Given the description of an element on the screen output the (x, y) to click on. 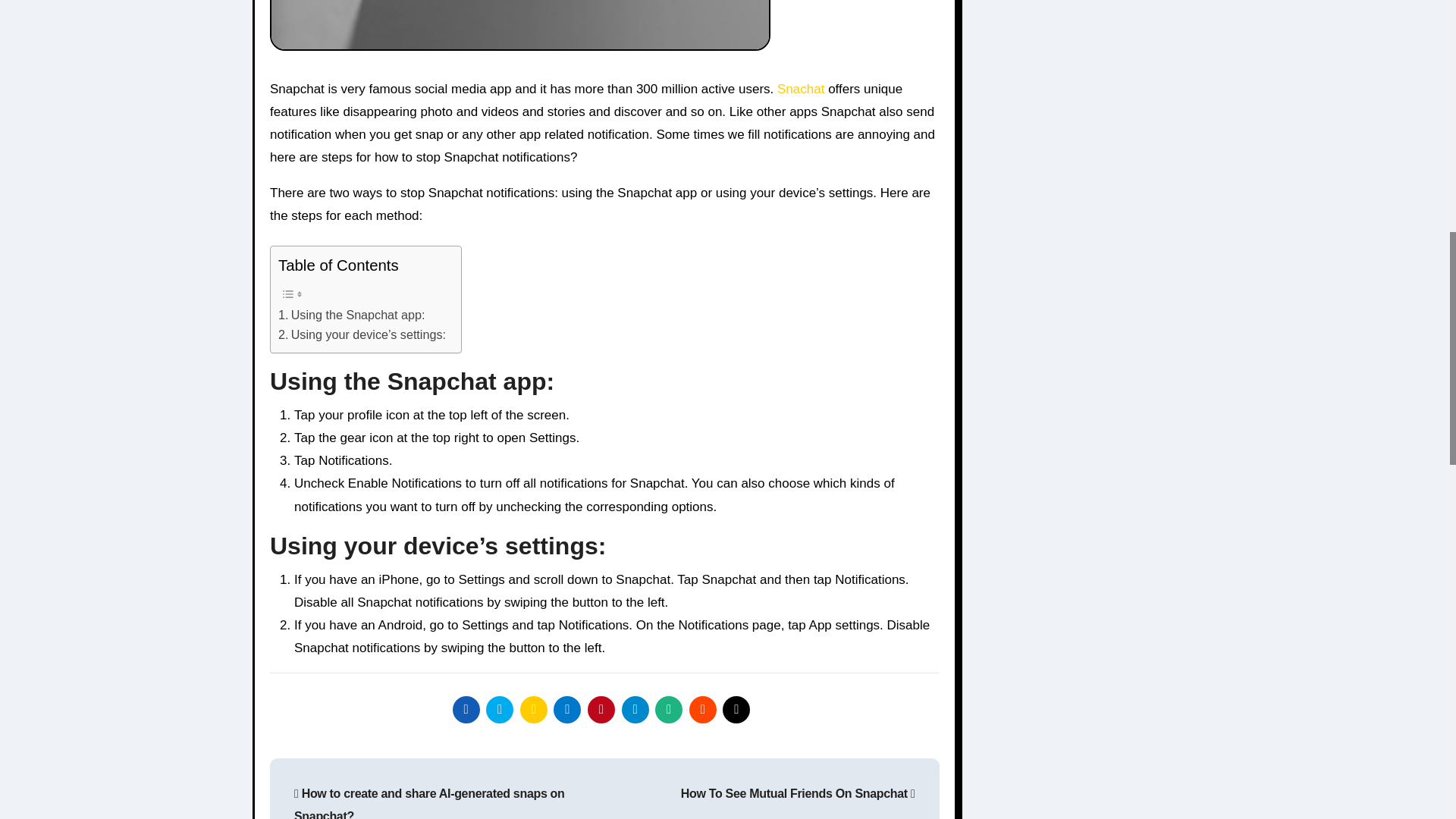
Using the Snapchat app: (351, 315)
Using the Snapchat app: (351, 315)
Snachat (800, 88)
